Given the description of an element on the screen output the (x, y) to click on. 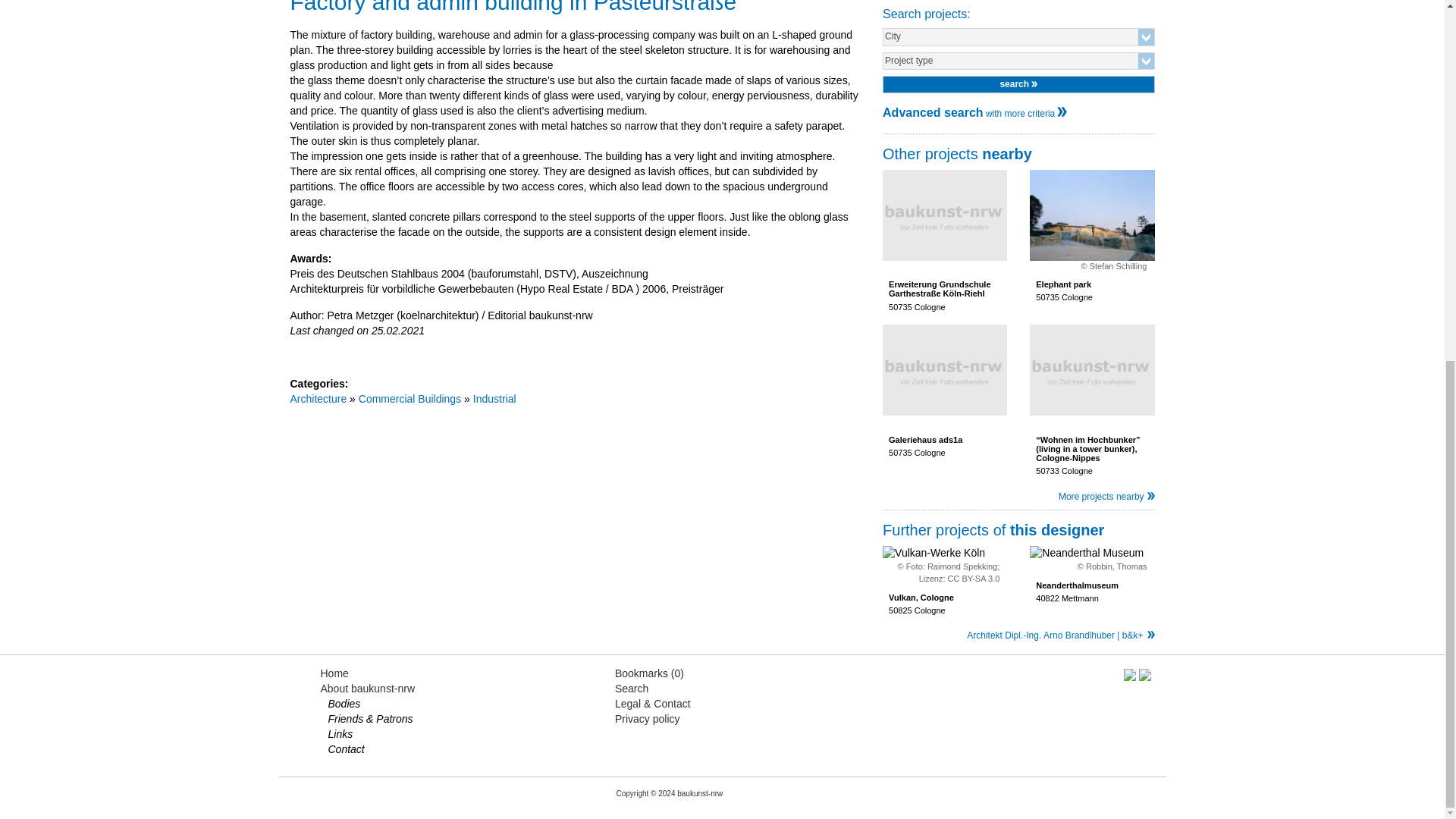
About baukunst-nrw (367, 688)
Industrial (944, 391)
Commercial Buildings (494, 398)
Links (409, 398)
Advanced search with more criteria (339, 734)
Architecture (974, 113)
Bodies (317, 398)
Home (343, 703)
Contact (333, 673)
